Given the description of an element on the screen output the (x, y) to click on. 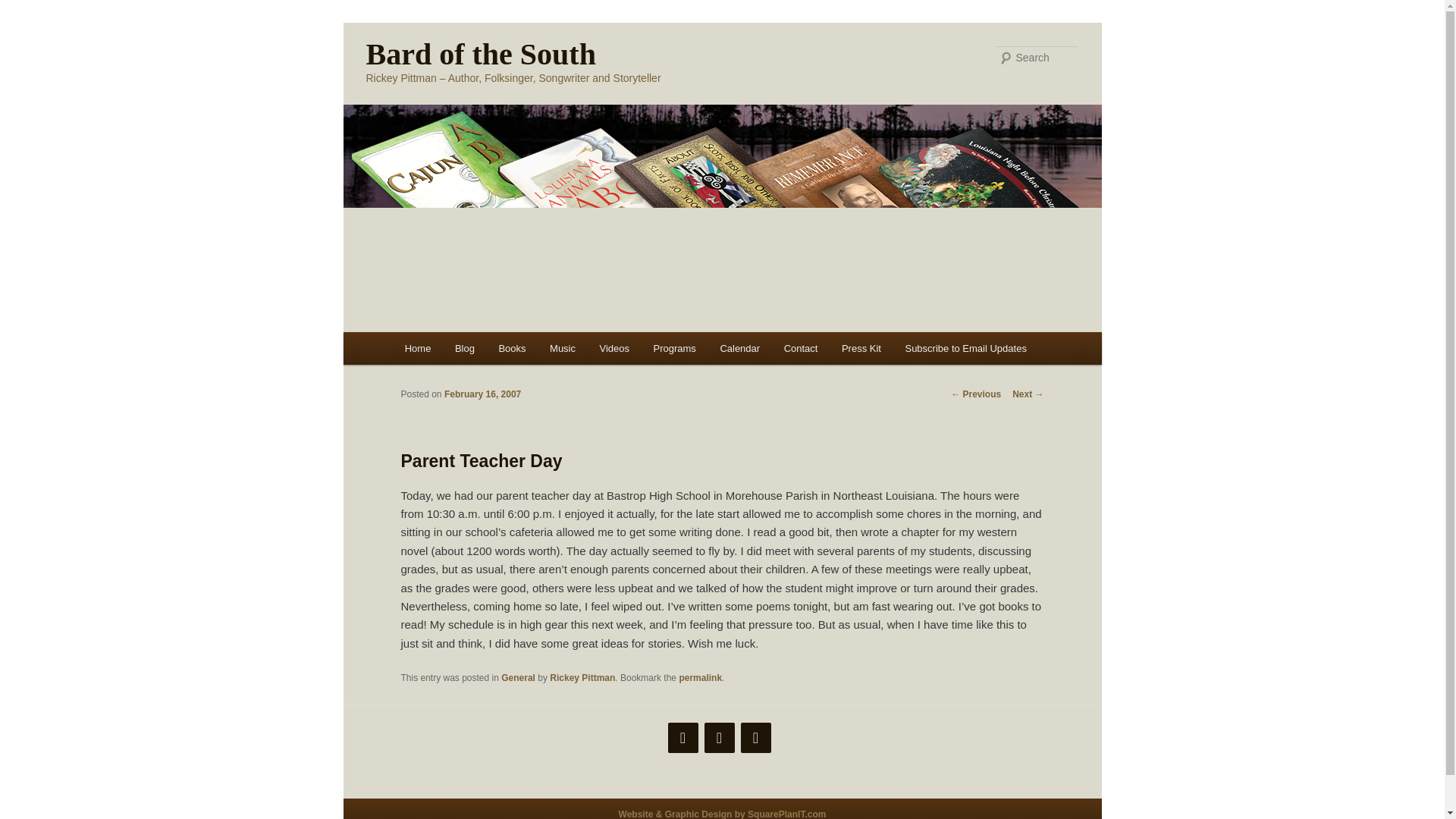
Subscribe to Email Updates (966, 348)
Bard of the South (480, 53)
Calendar (739, 348)
YouTube (754, 737)
Blog (464, 348)
Videos (615, 348)
Programs (674, 348)
Music (561, 348)
Contact (800, 348)
